Given the description of an element on the screen output the (x, y) to click on. 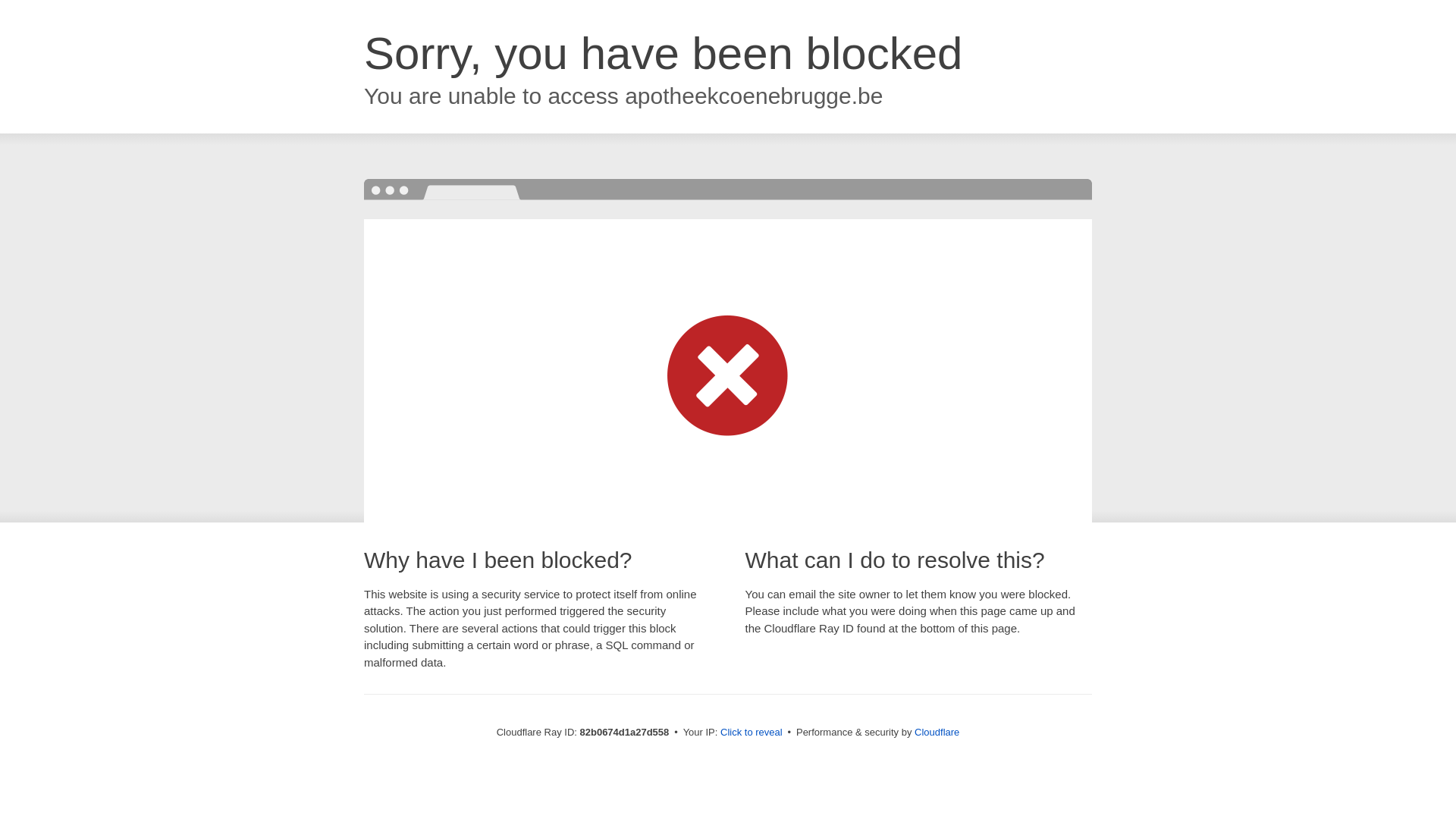
Click to reveal Element type: text (751, 732)
Cloudflare Element type: text (936, 731)
